Given the description of an element on the screen output the (x, y) to click on. 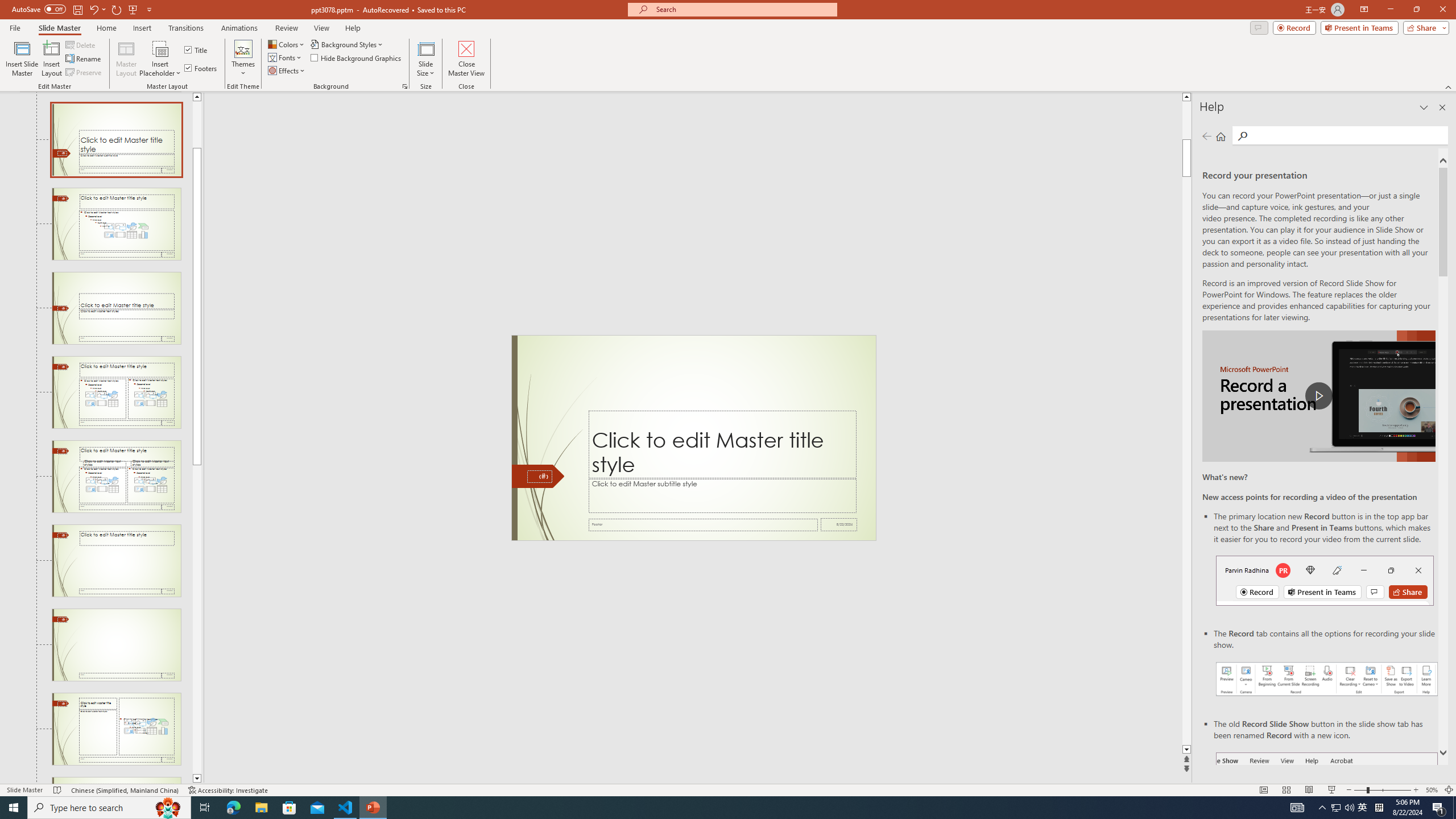
Close Master View (466, 58)
Slide Title Only Layout: used by no slides (116, 560)
Insert Slide Master (21, 58)
Rename (84, 58)
Record button in top bar (1324, 580)
Slide Comparison Layout: used by no slides (116, 476)
Slide Master (59, 28)
